Given the description of an element on the screen output the (x, y) to click on. 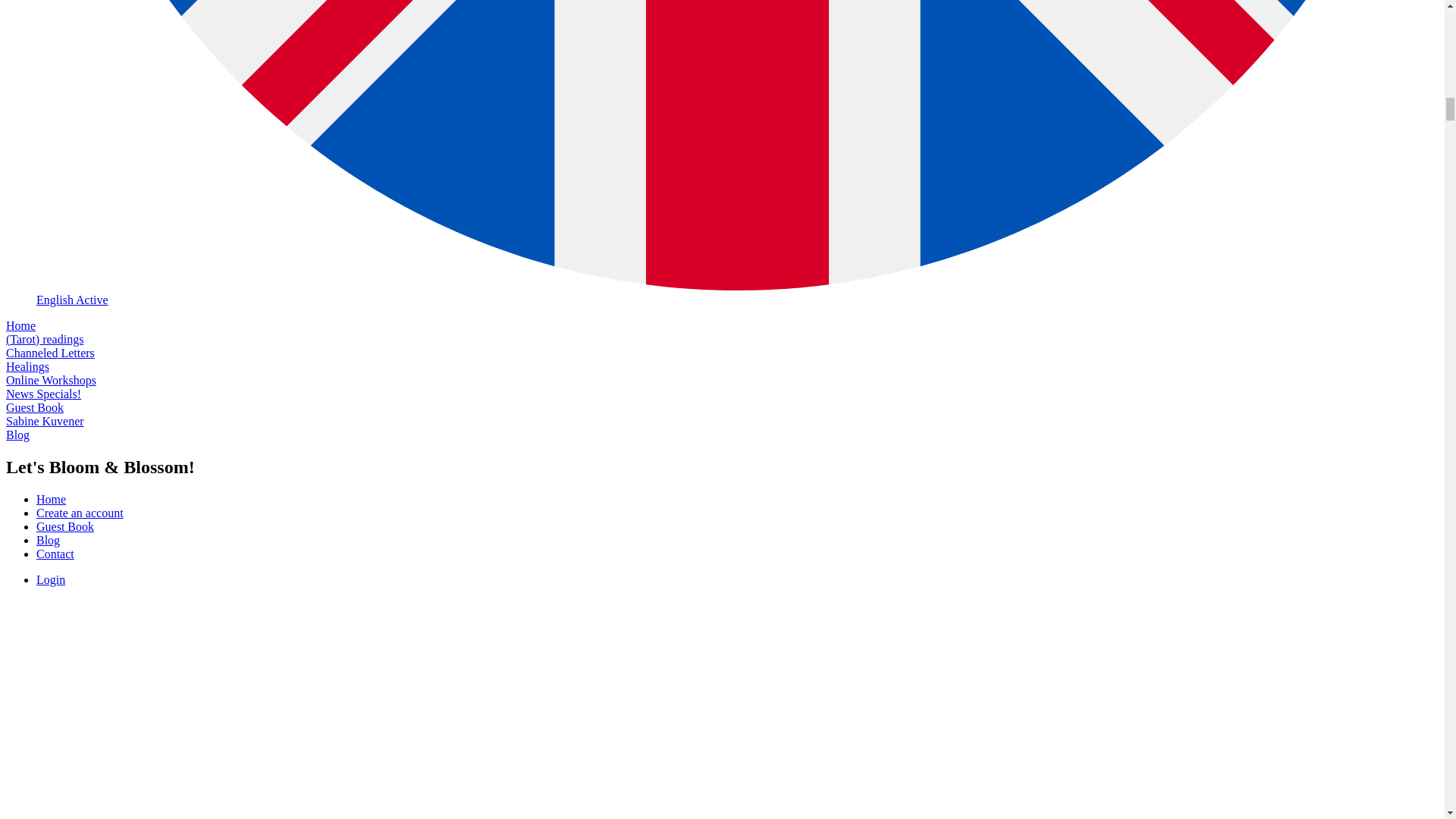
Guest Book (34, 407)
Guest Book (65, 526)
Online Workshops (50, 379)
Contact (55, 553)
Blog (17, 434)
Home (50, 499)
Sabine Kuvener (44, 420)
Healings (27, 366)
Home (19, 325)
Create an account (79, 512)
